Given the description of an element on the screen output the (x, y) to click on. 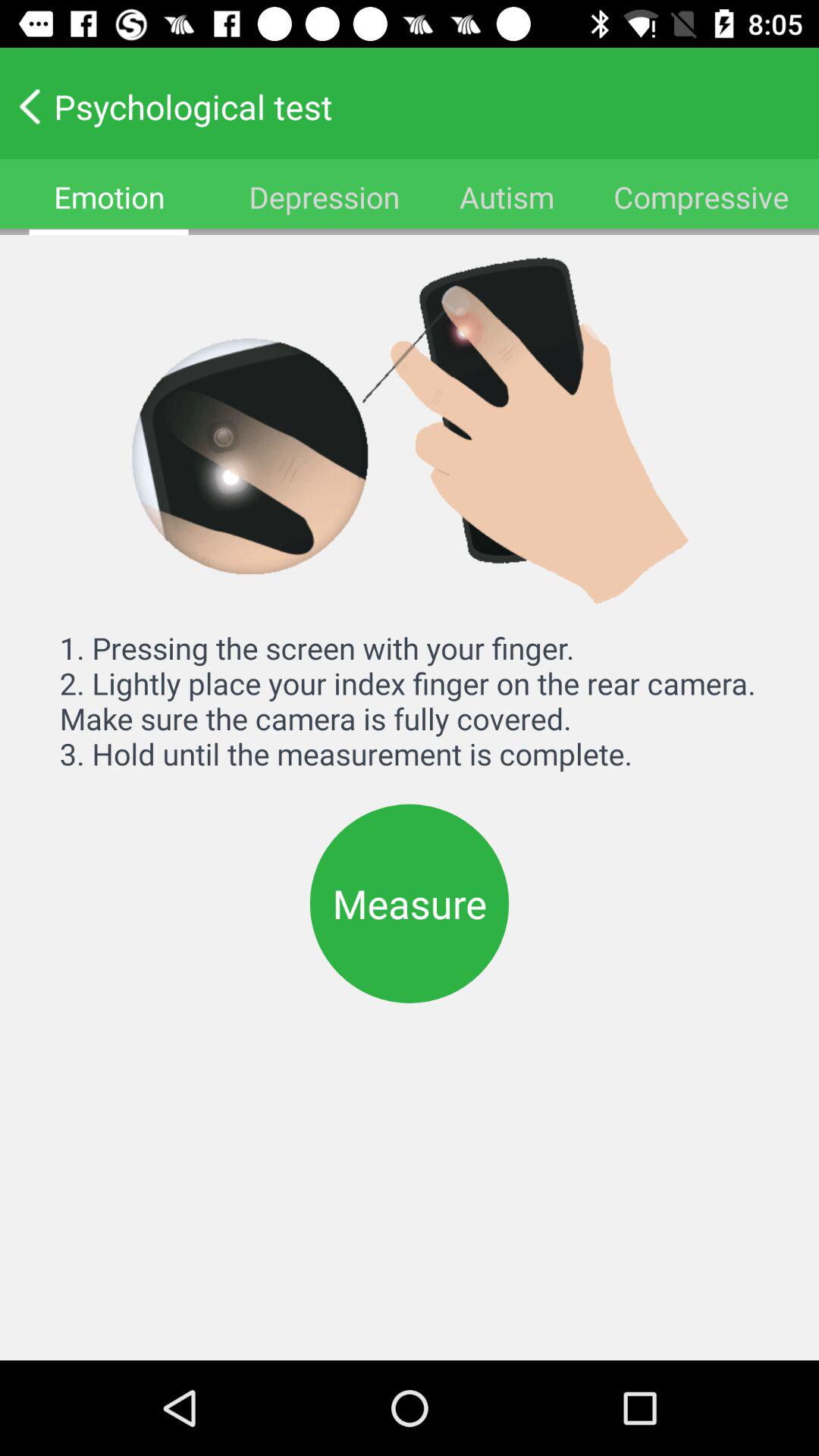
click the item to the right of the autism icon (701, 196)
